Given the description of an element on the screen output the (x, y) to click on. 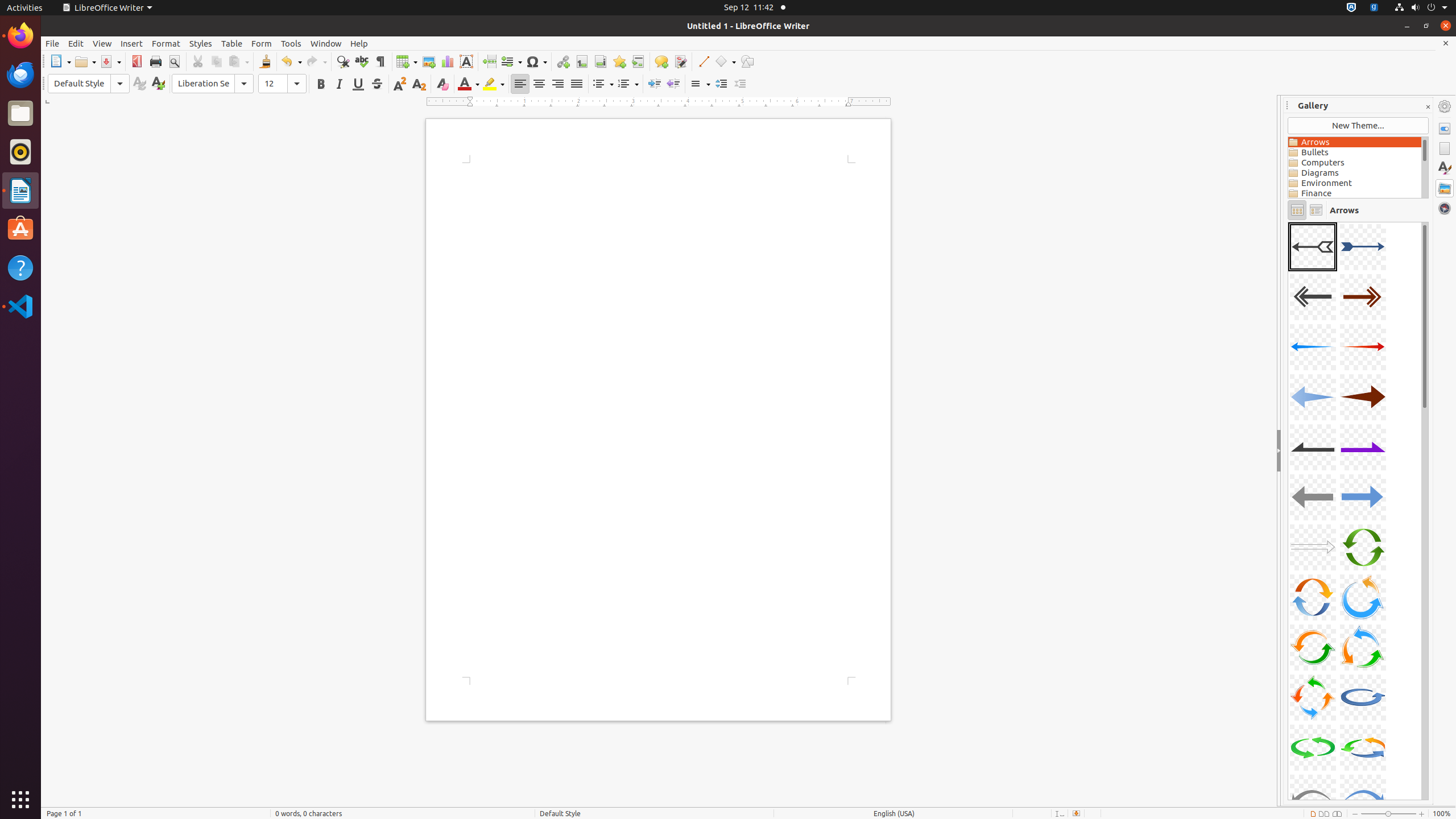
Find & Replace Element type: toggle-button (342, 61)
Bullets Element type: push-button (602, 83)
Line Element type: toggle-button (702, 61)
A10-Arrow-Purple-Right Element type: list-item (1362, 446)
A20-CircleArrow-LightBlue Element type: list-item (1362, 696)
